Given the description of an element on the screen output the (x, y) to click on. 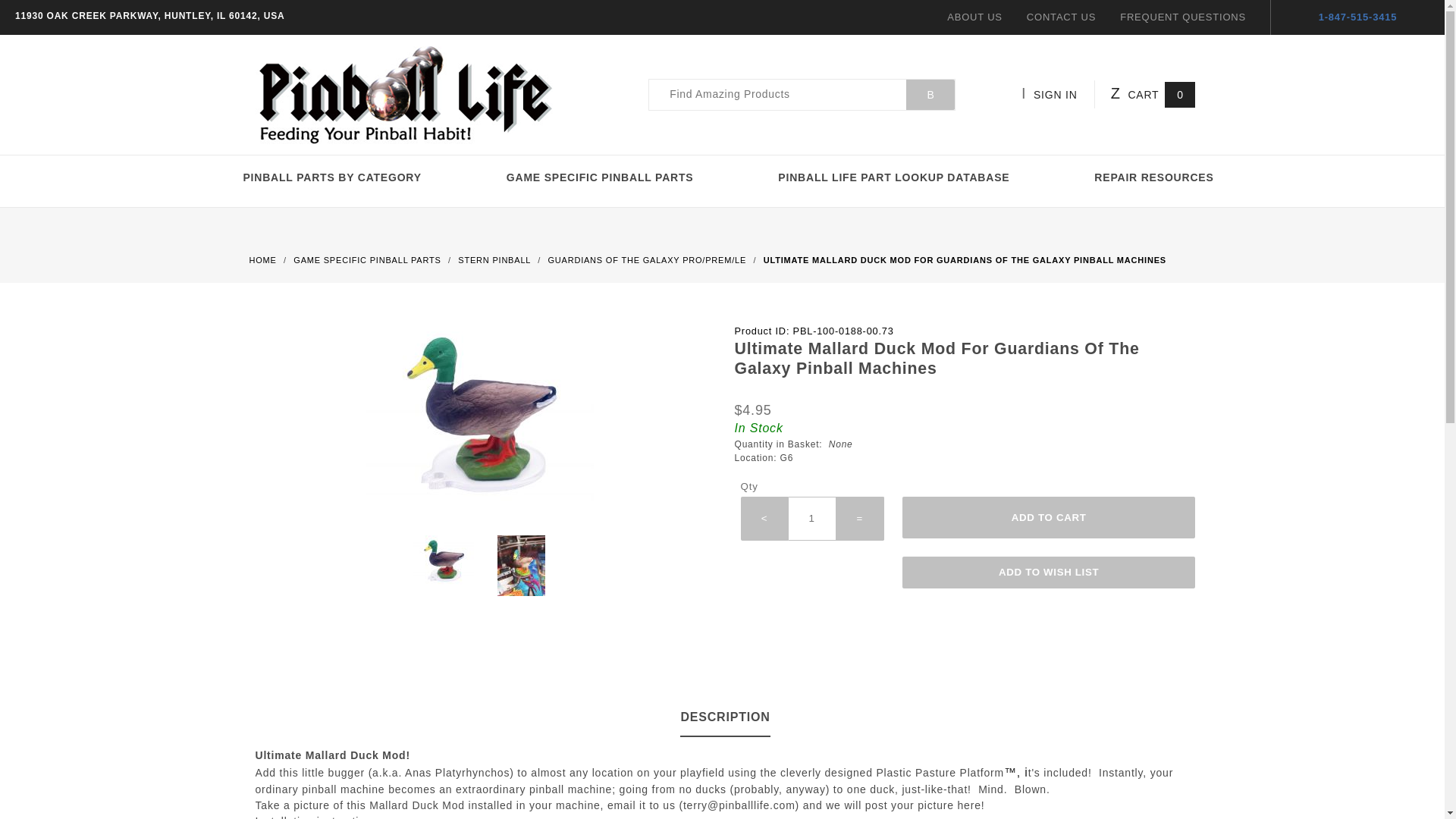
GAME SPECIFIC PINBALL PARTS (369, 258)
ABOUT US (975, 17)
Add To Cart (1048, 517)
REPAIR RESOURCES (1153, 176)
Add to Wish List (1048, 572)
GAME SPECIFIC PINBALL PARTS (600, 176)
SIGN IN (1058, 94)
Add To Cart (1048, 517)
Sign In (1071, 176)
HOME (263, 258)
